Given the description of an element on the screen output the (x, y) to click on. 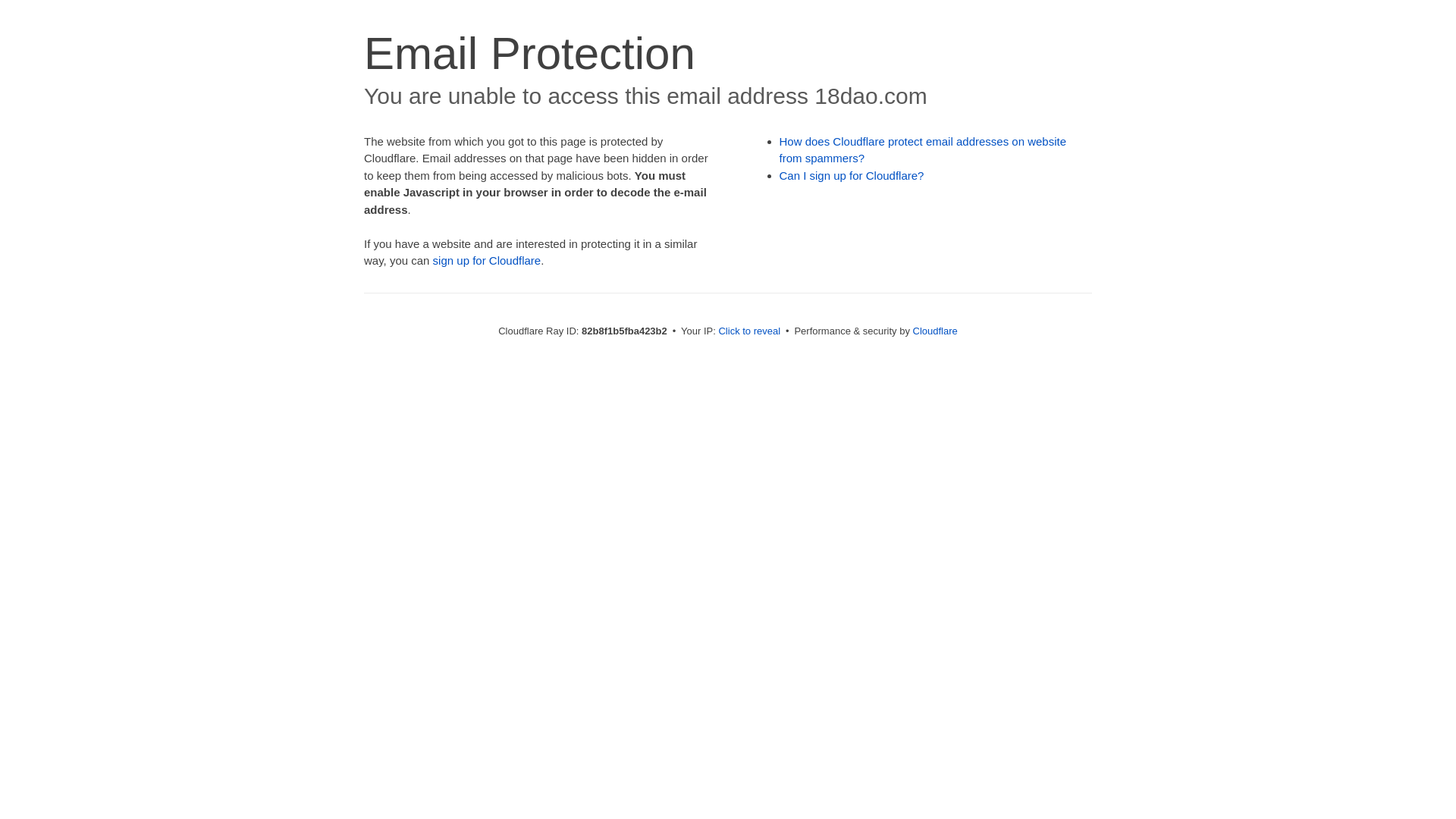
Can I sign up for Cloudflare? Element type: text (851, 175)
Cloudflare Element type: text (935, 330)
sign up for Cloudflare Element type: text (487, 260)
Click to reveal Element type: text (749, 330)
